Given the description of an element on the screen output the (x, y) to click on. 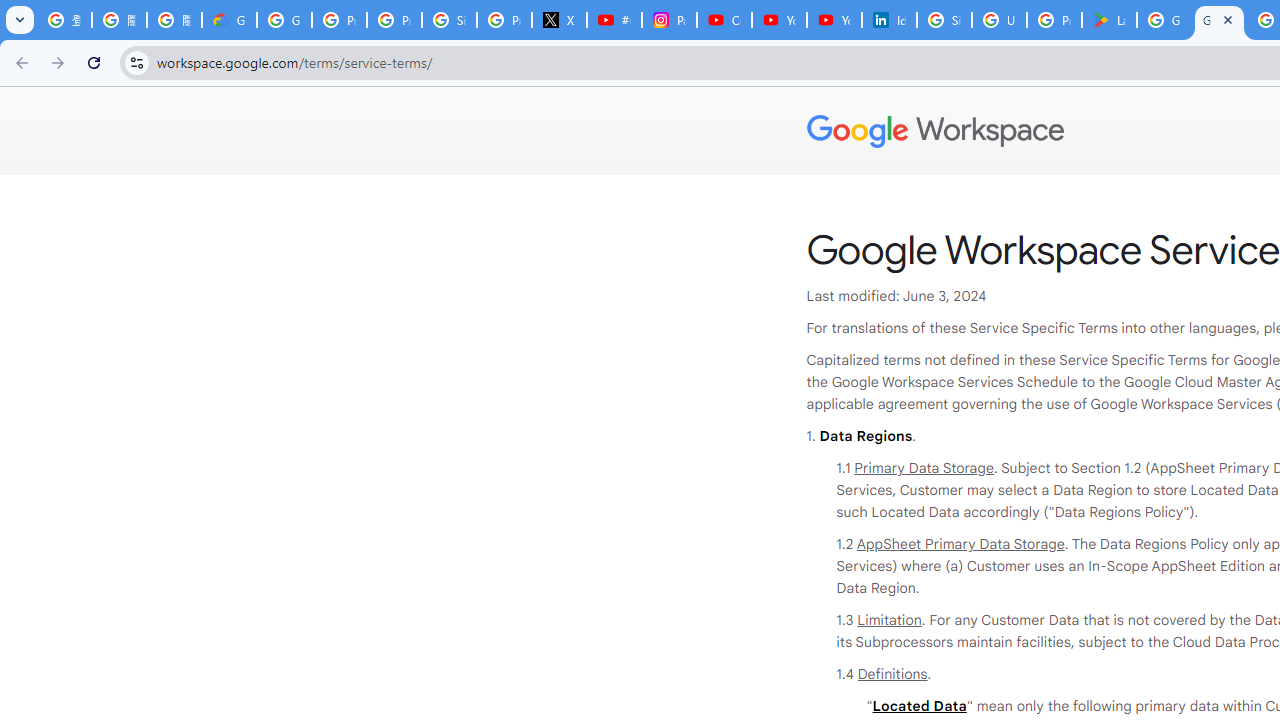
#nbabasketballhighlights - YouTube (614, 20)
X (559, 20)
YouTube Culture & Trends - YouTube Top 10, 2021 (833, 20)
Google Workspace - Specific Terms (1218, 20)
